Given the description of an element on the screen output the (x, y) to click on. 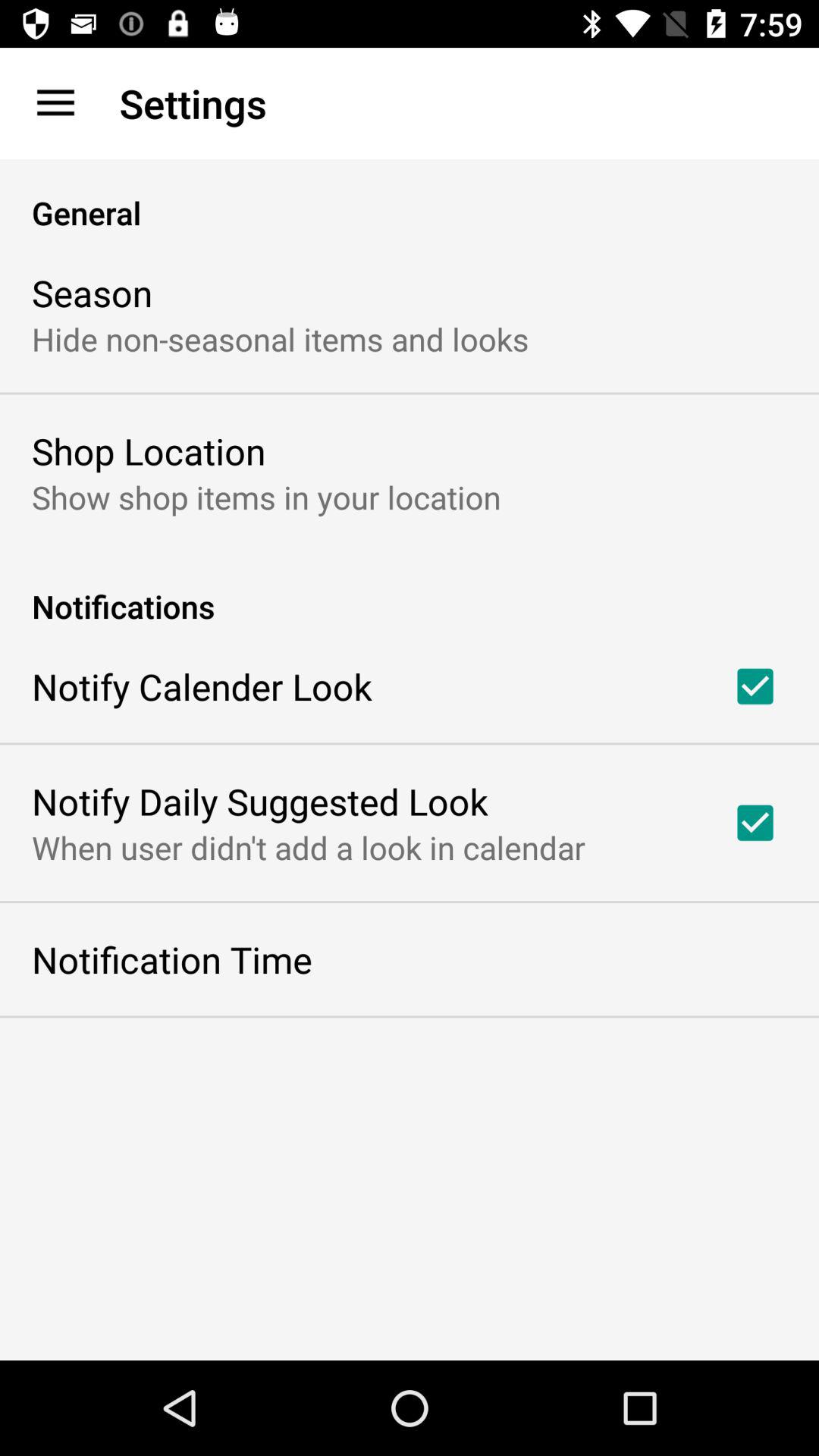
flip until the when user didn item (308, 847)
